Given the description of an element on the screen output the (x, y) to click on. 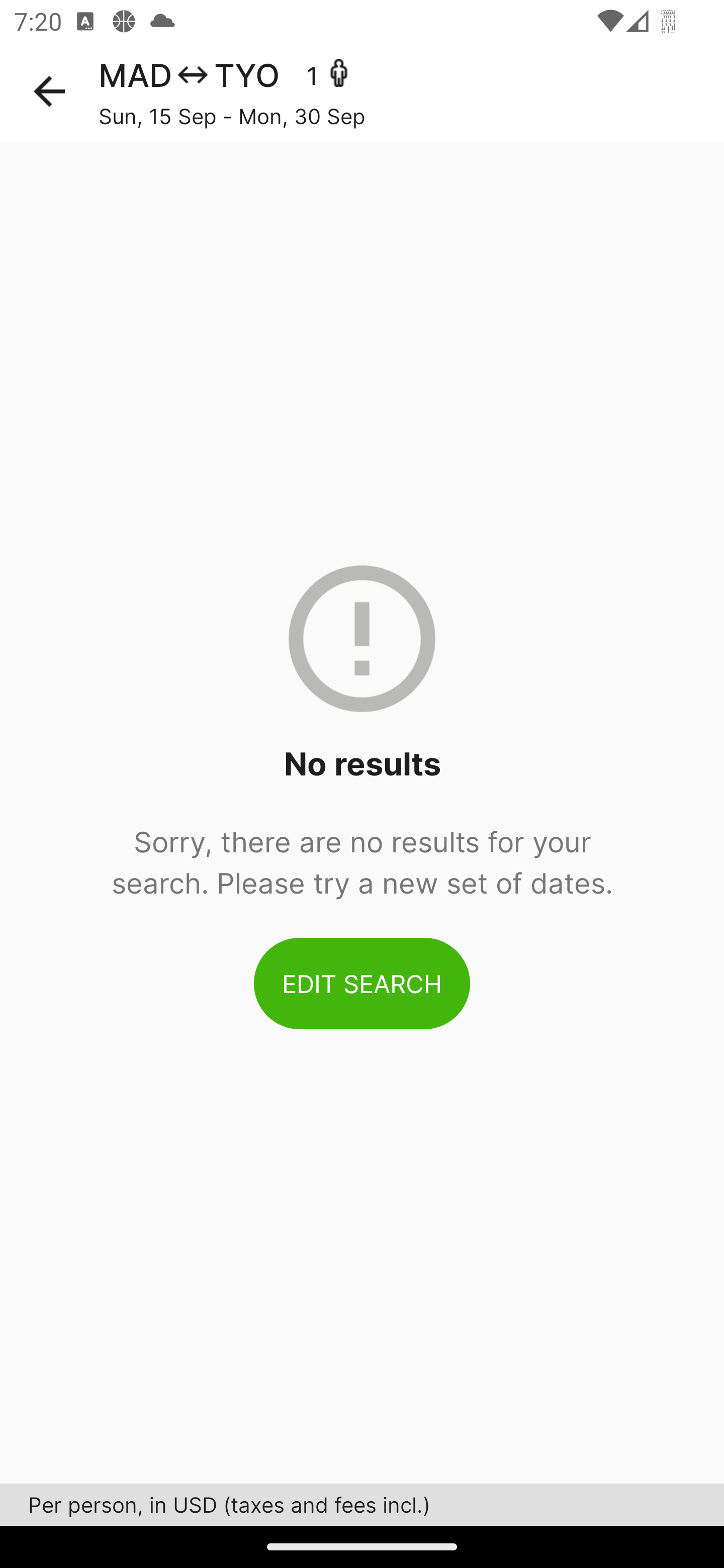
MAD TYO   1 - Sun, 15 Sep - Mon, 30 Sep (411, 91)
EDIT SEARCH (361, 982)
